Given the description of an element on the screen output the (x, y) to click on. 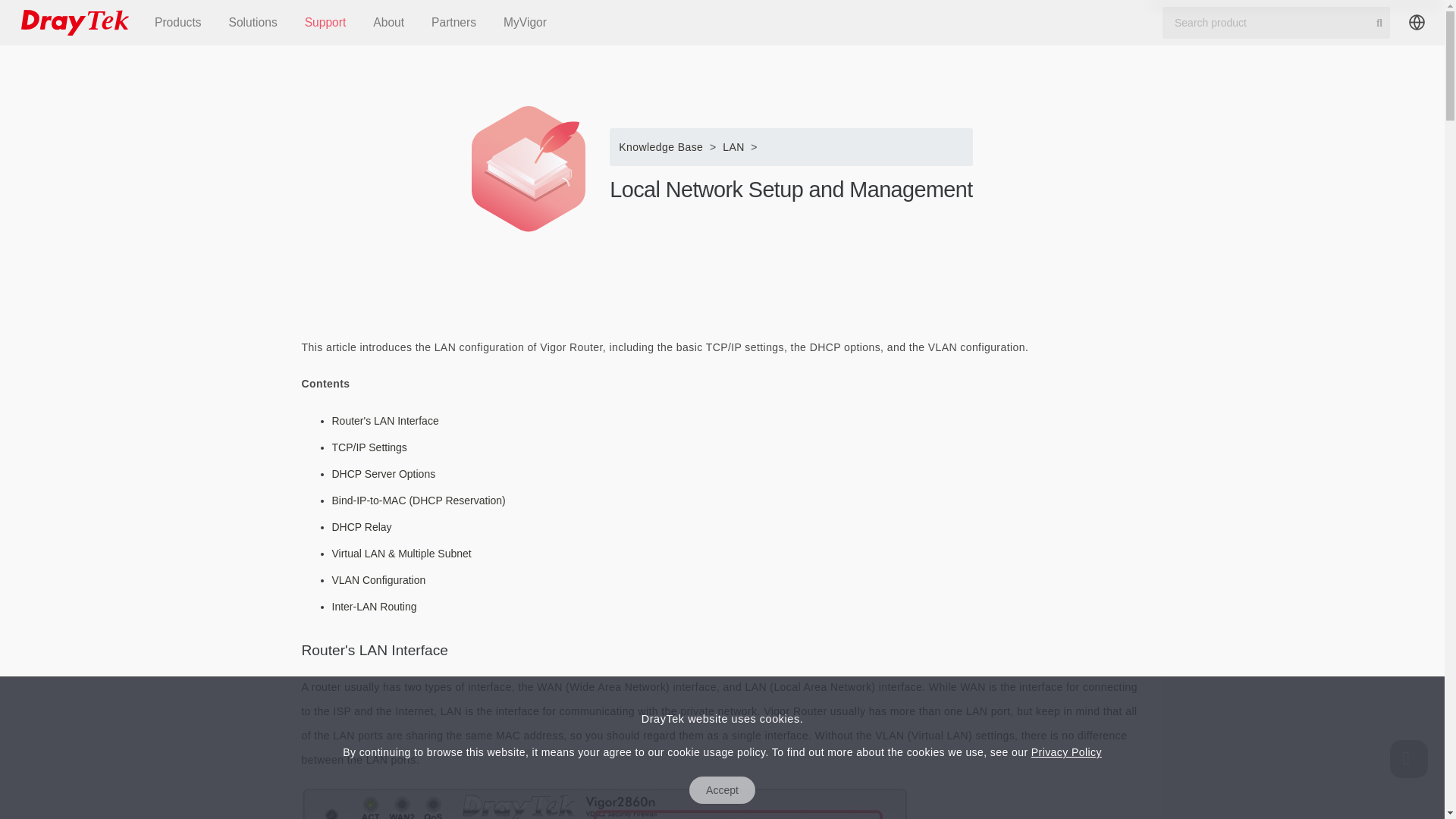
Solutions (253, 22)
Products (178, 22)
